Given the description of an element on the screen output the (x, y) to click on. 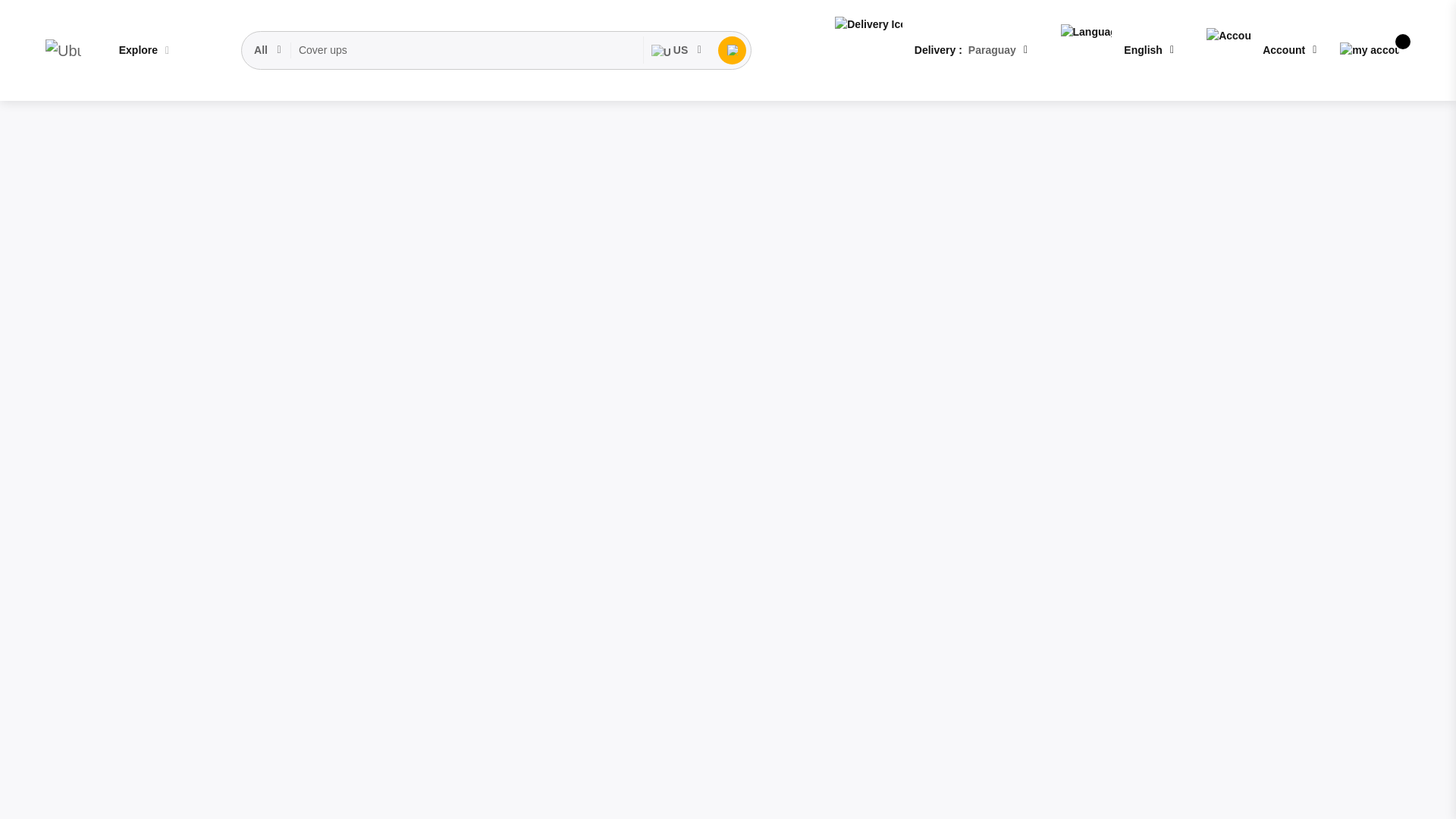
Cover ups (467, 49)
All (267, 50)
Ubuy (63, 50)
US (676, 50)
Cover ups (467, 49)
Cart (1369, 49)
